Given the description of an element on the screen output the (x, y) to click on. 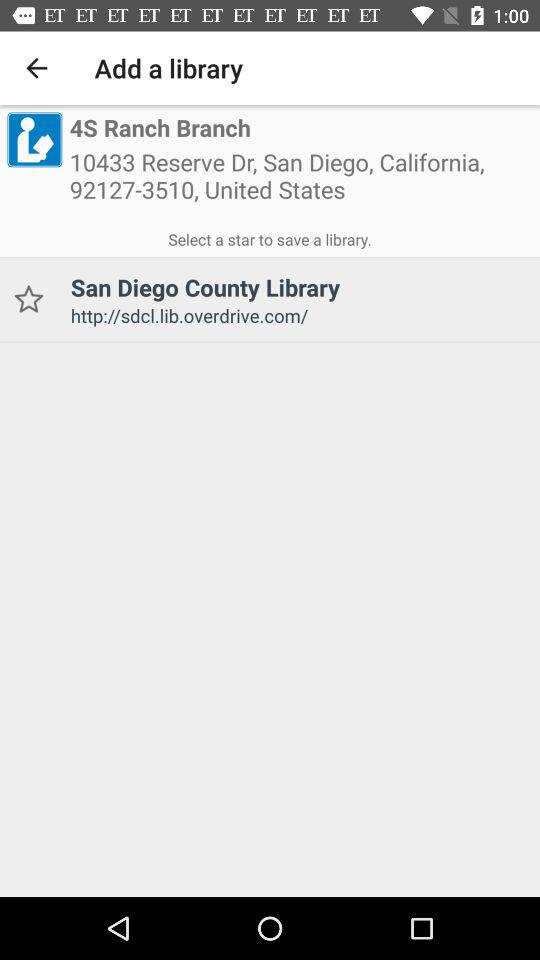
bookmark san diego library (28, 299)
